Given the description of an element on the screen output the (x, y) to click on. 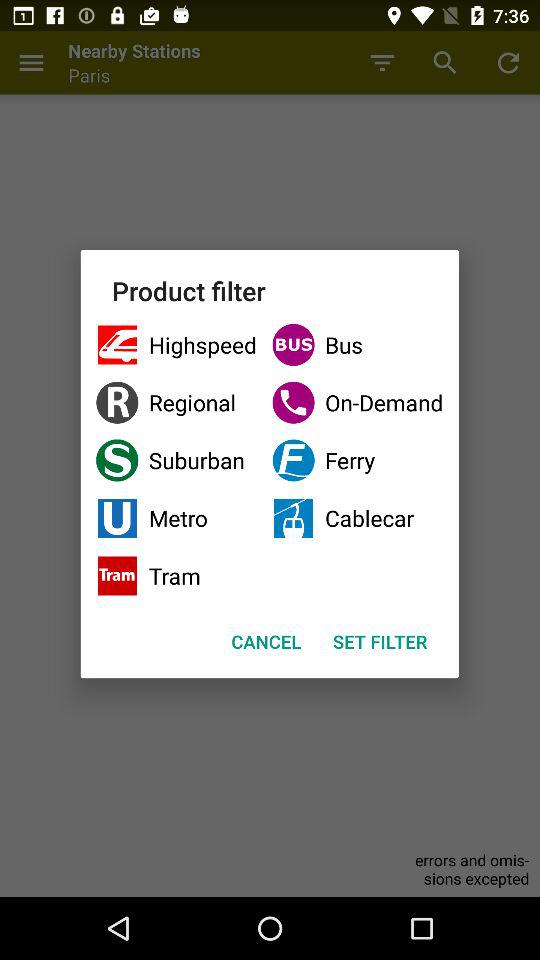
turn on the item next to the regional item (357, 460)
